Given the description of an element on the screen output the (x, y) to click on. 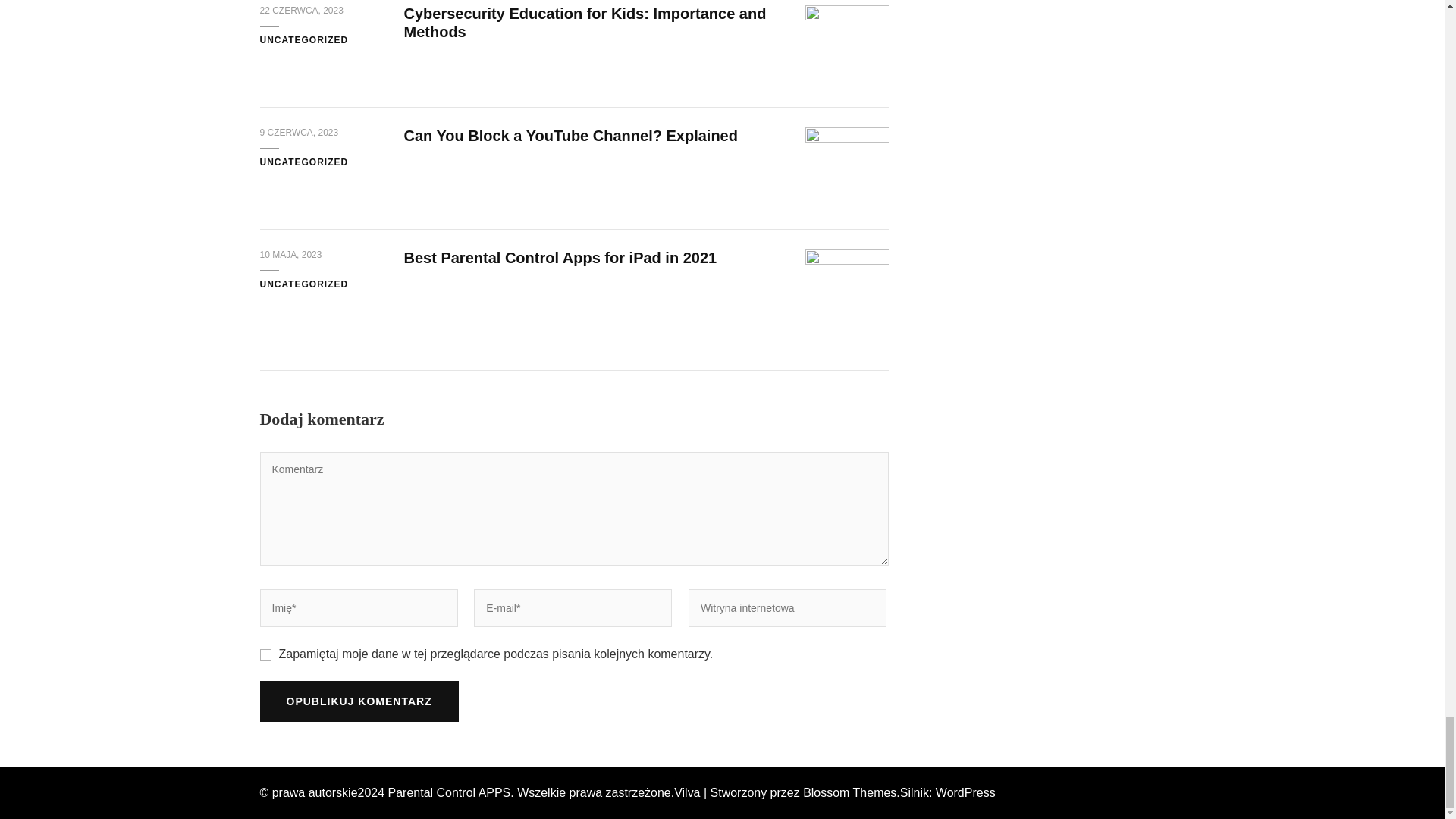
UNCATEGORIZED (303, 162)
10 MAJA, 2023 (290, 255)
Best Parental Control Apps for iPad in 2021 (559, 257)
Can You Block a YouTube Channel? Explained (569, 135)
UNCATEGORIZED (303, 40)
Parental Control APPS (449, 792)
9 CZERWCA, 2023 (298, 133)
UNCATEGORIZED (303, 284)
22 CZERWCA, 2023 (300, 11)
Opublikuj komentarz (358, 700)
Cybersecurity Education for Kids: Importance and Methods (584, 22)
Opublikuj komentarz (358, 700)
